Given the description of an element on the screen output the (x, y) to click on. 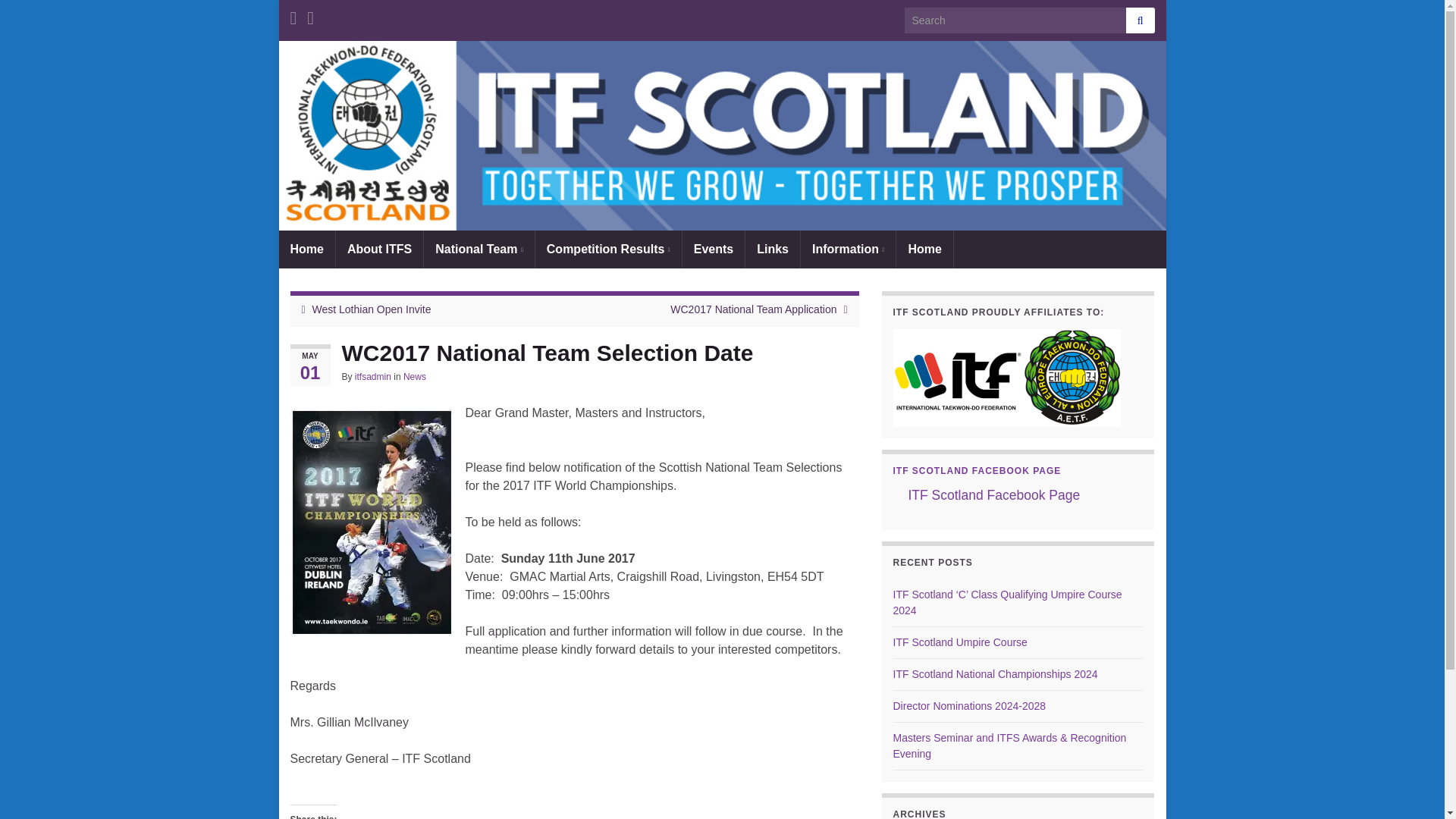
National Team (478, 249)
ITF Scotland Facebook Page (994, 494)
Home (924, 249)
itfsadmin (373, 376)
WC2017 National Team Application (752, 309)
ITF SCOTLAND FACEBOOK PAGE (977, 470)
About ITFS (379, 249)
Competition Results (608, 249)
Events (713, 249)
Links (772, 249)
Home (306, 249)
News (414, 376)
ITF Scotland Umpire Course (960, 642)
Information (847, 249)
West Lothian Open Invite (371, 309)
